Given the description of an element on the screen output the (x, y) to click on. 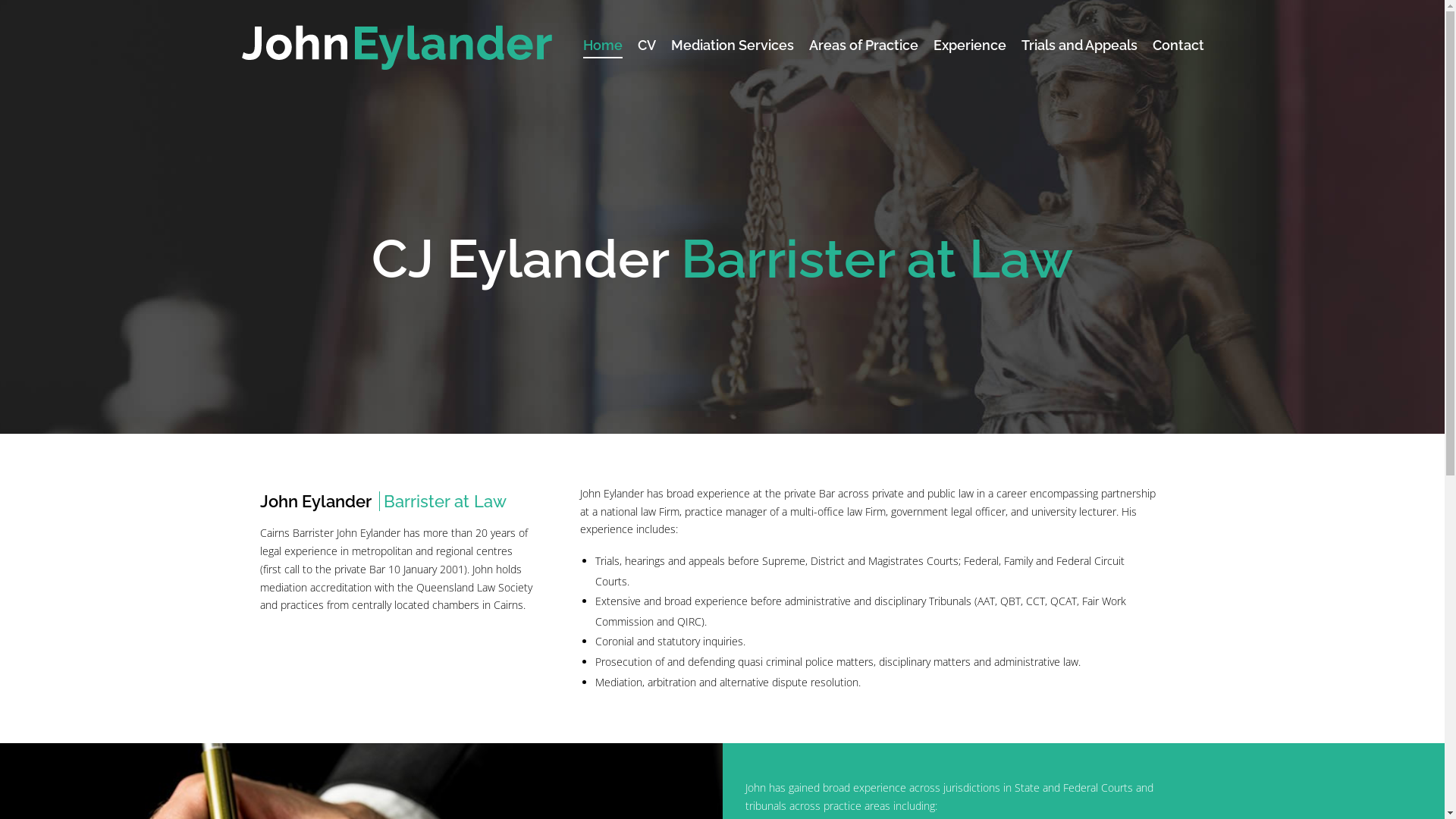
Mediation Services Element type: text (732, 45)
Experience Element type: text (969, 45)
CV Element type: text (646, 45)
Trials and Appeals Element type: text (1079, 45)
Areas of Practice Element type: text (863, 45)
Home Element type: text (602, 45)
Contact Element type: text (1177, 45)
